Given the description of an element on the screen output the (x, y) to click on. 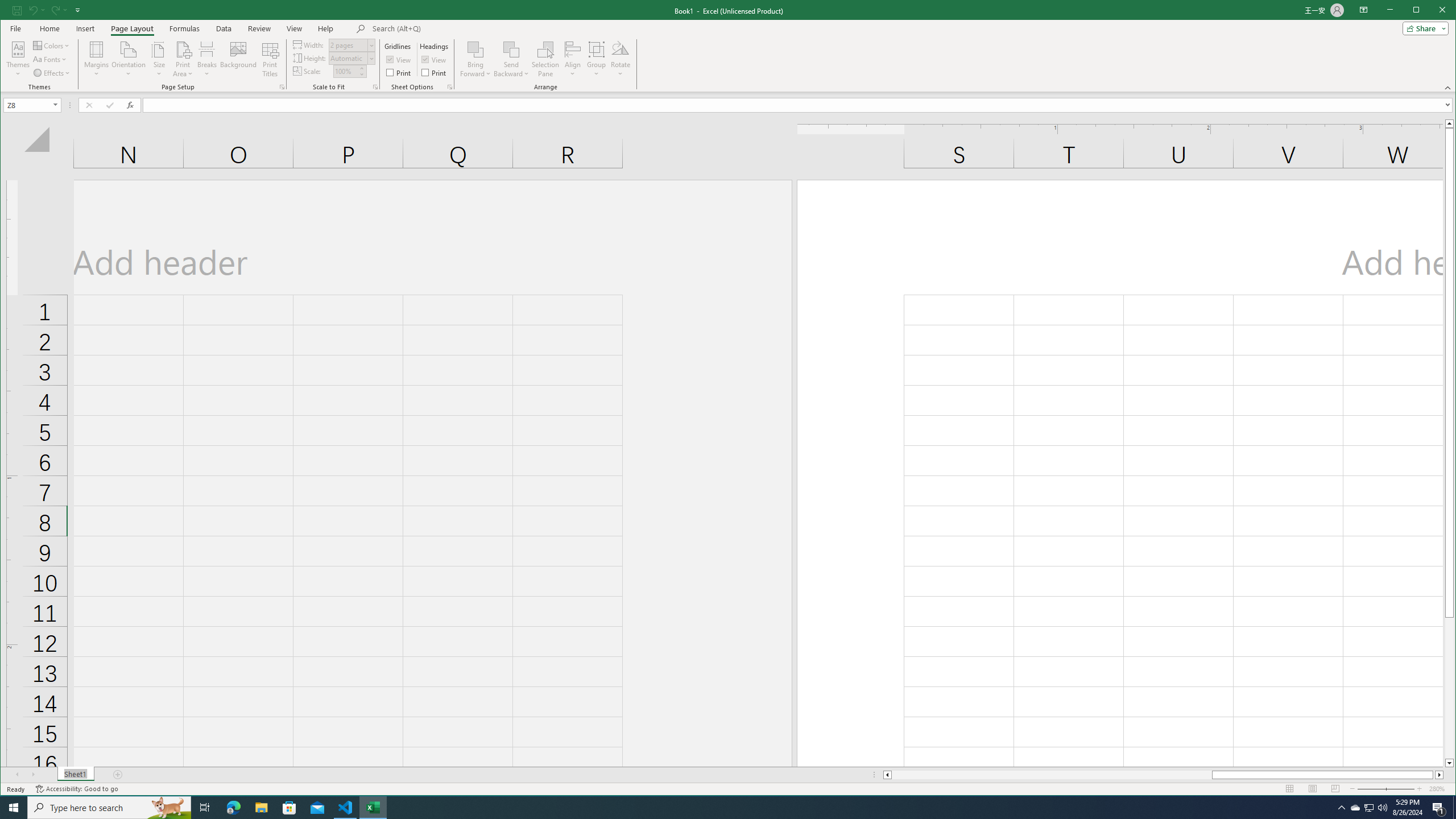
Effects (52, 72)
Microsoft Edge (233, 807)
Running applications (717, 807)
Formula Bar (799, 104)
Page left (1051, 774)
Start (13, 807)
Print Titles (269, 59)
Send Backward (510, 48)
Send Backward (510, 59)
